Given the description of an element on the screen output the (x, y) to click on. 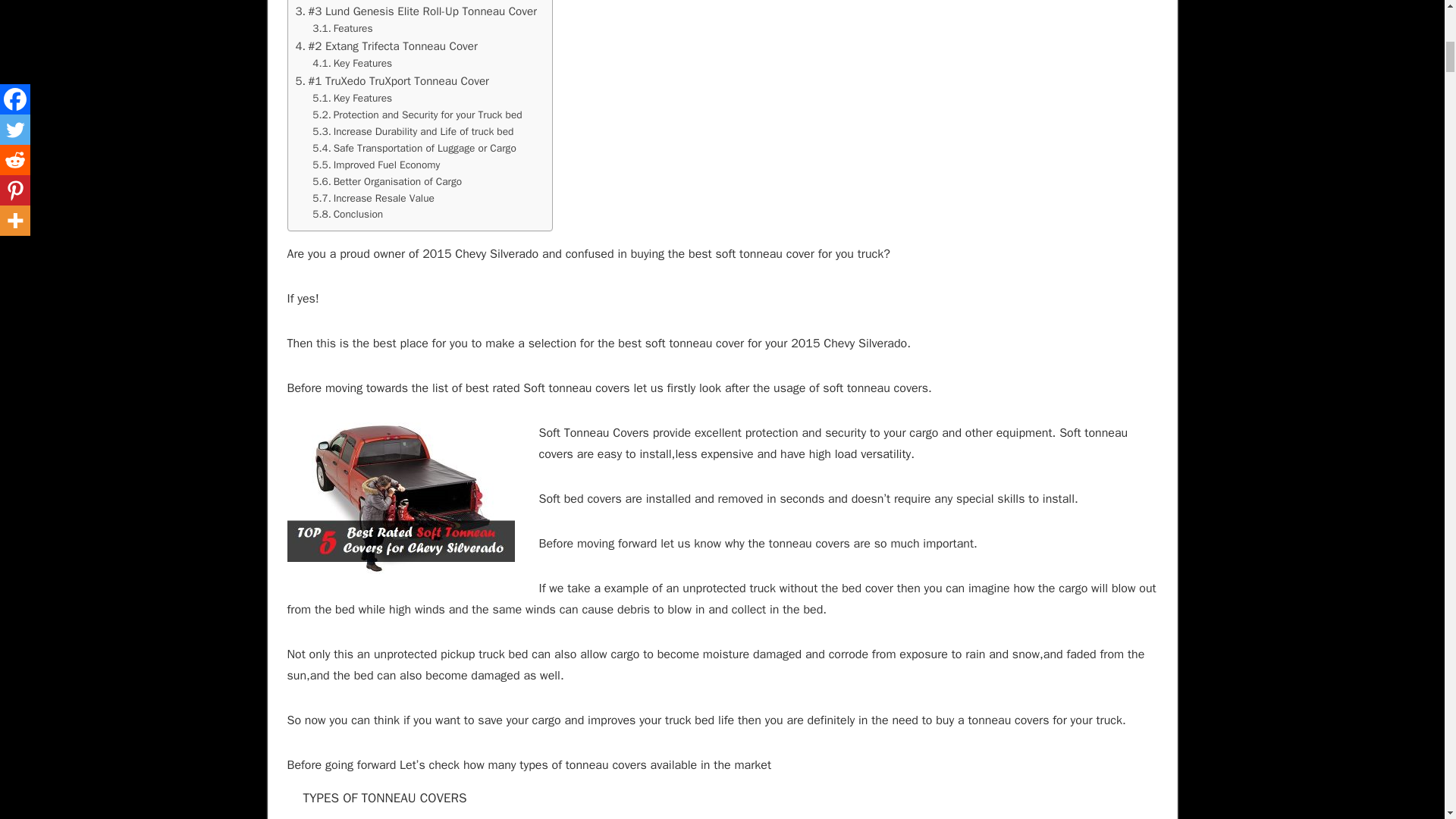
Features (342, 1)
Features (342, 28)
Key Features (352, 98)
Protection and Security for your Truck bed (417, 115)
Key Features (352, 63)
Increase Durability and Life of truck bed (413, 131)
